Given the description of an element on the screen output the (x, y) to click on. 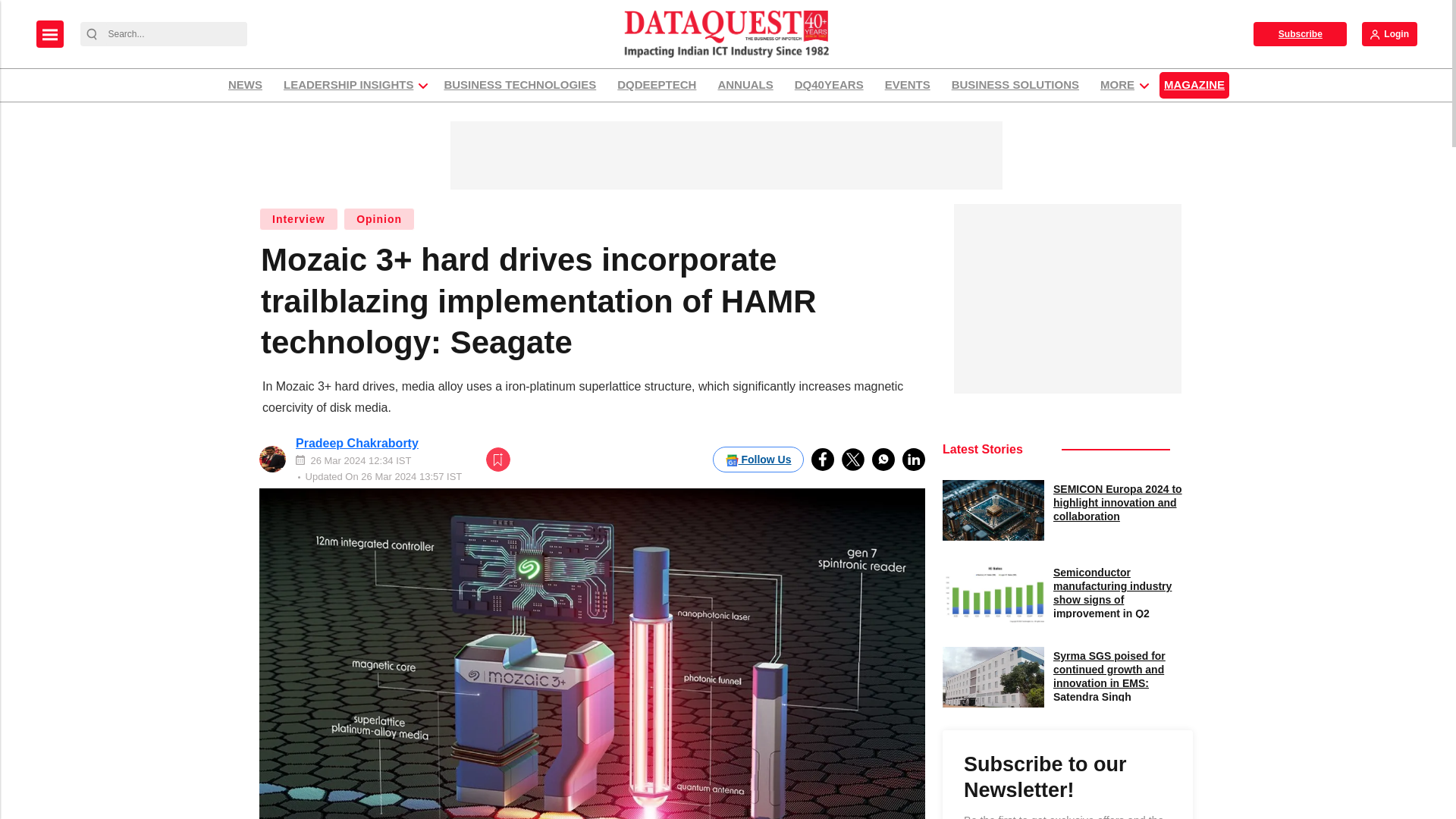
DQDEEPTECH (656, 84)
DQ40YEARS (829, 84)
Opinion (378, 219)
BUSINESS TECHNOLOGIES (519, 84)
LEADERSHIP INSIGHTS (348, 84)
EVENTS (907, 84)
Subscribe (1299, 33)
MORE (1117, 84)
Interview (298, 219)
BUSINESS SOLUTIONS (1015, 84)
